Given the description of an element on the screen output the (x, y) to click on. 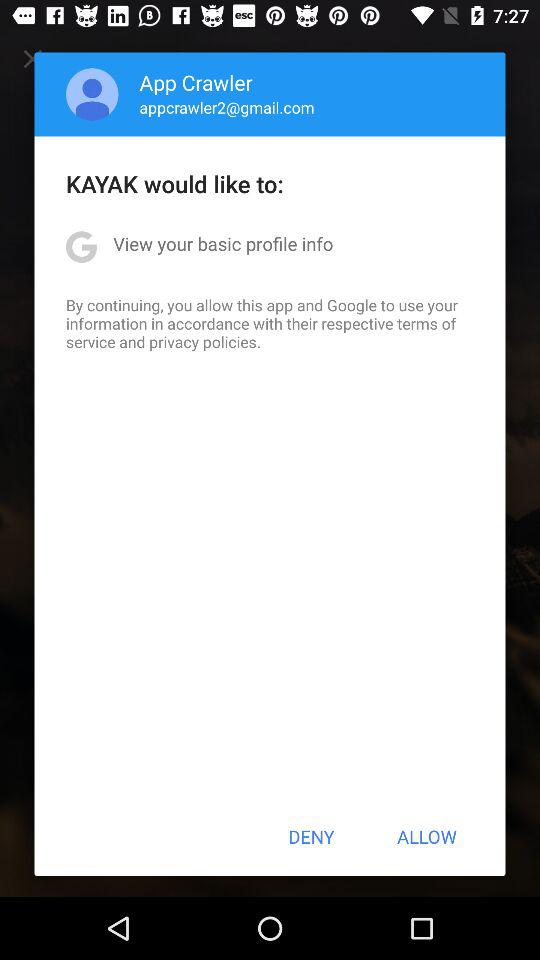
open the icon above by continuing you (223, 243)
